Given the description of an element on the screen output the (x, y) to click on. 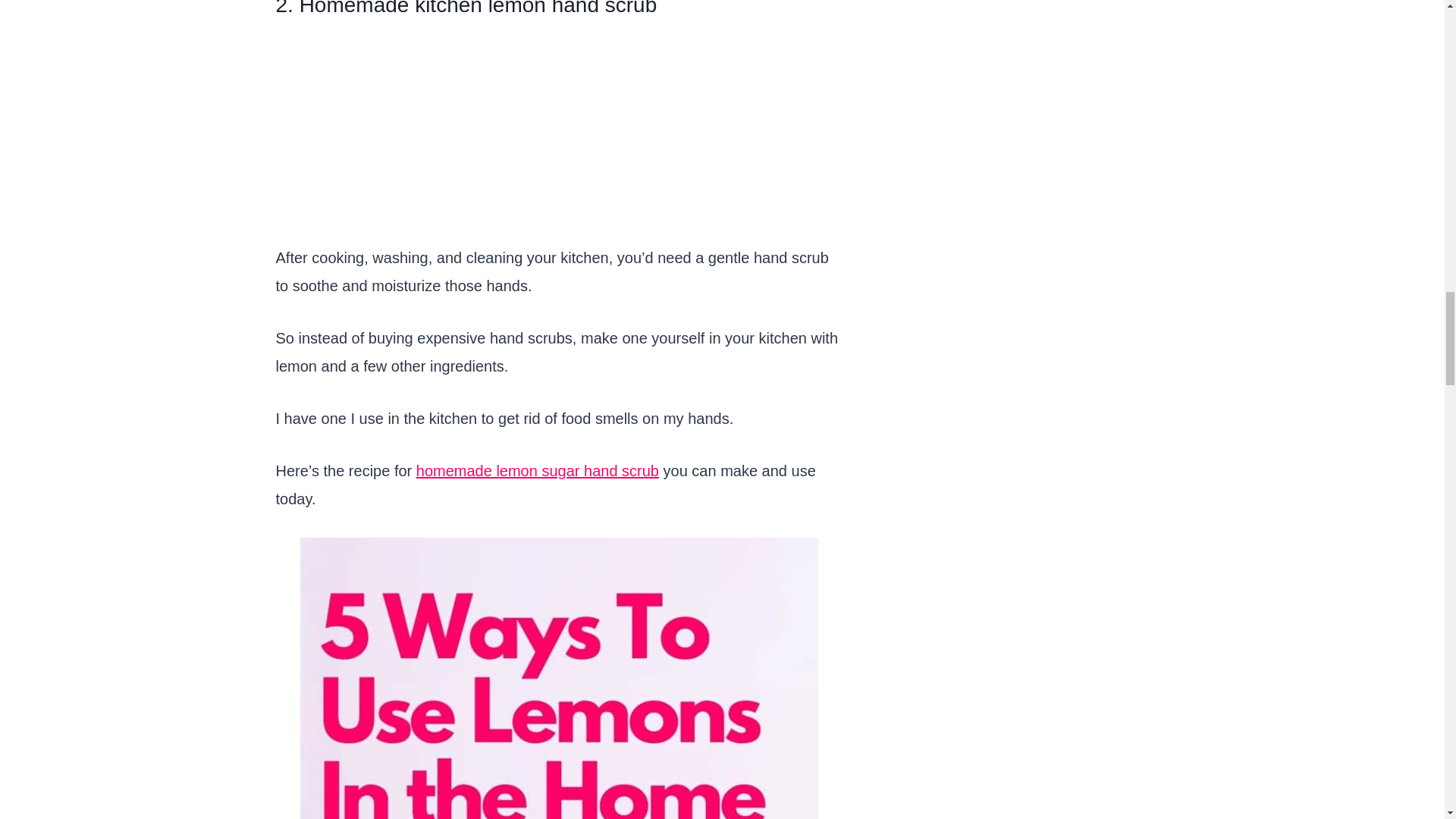
Advertisement (559, 137)
homemade lemon sugar hand scrub (537, 470)
